Given the description of an element on the screen output the (x, y) to click on. 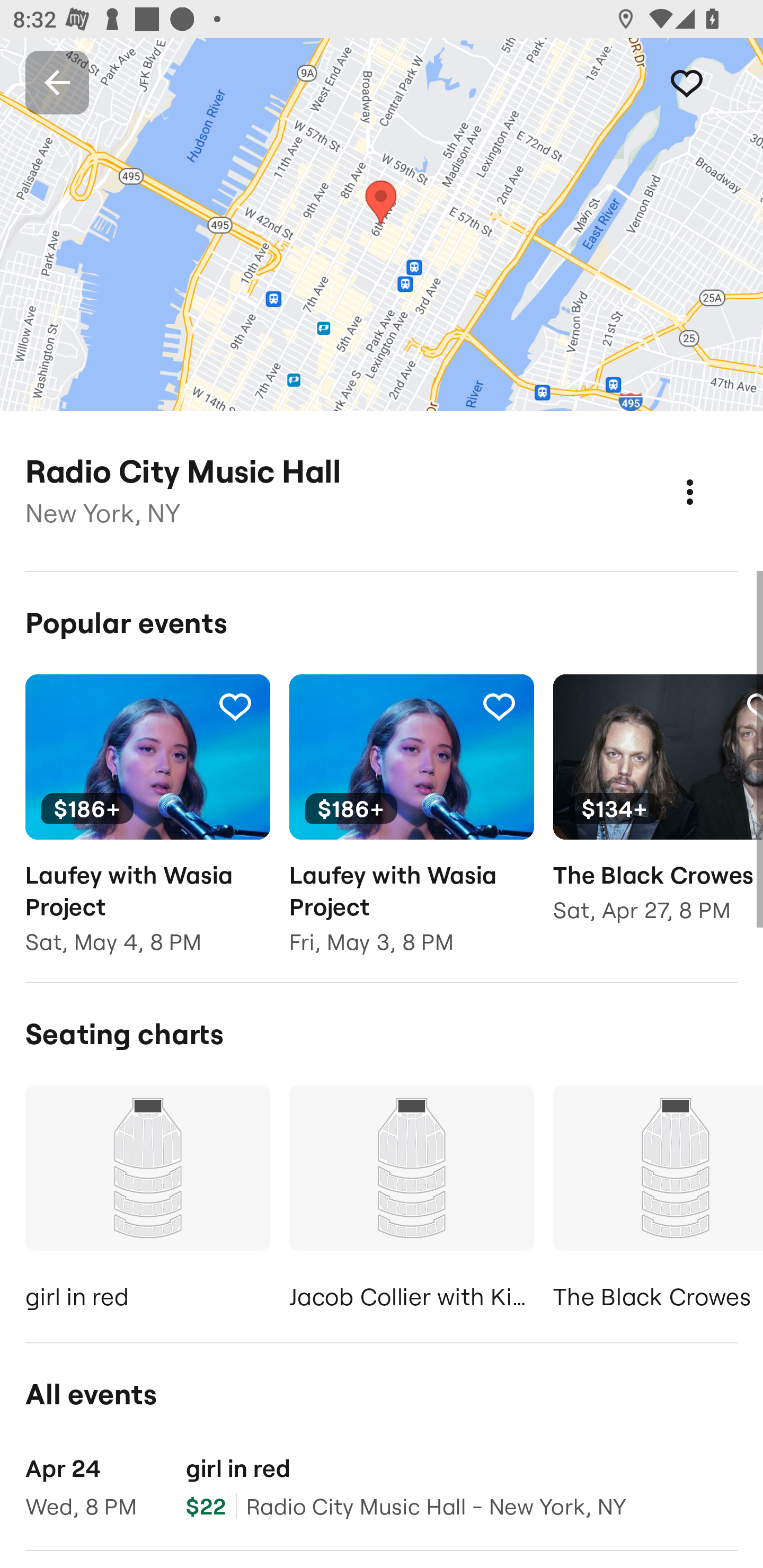
Back (57, 81)
Tracking (705, 81)
See more options (708, 472)
Tracking $134+ The Black Crowes Sat, Apr 27, 8 PM (658, 811)
Tracking (234, 705)
Tracking (498, 705)
girl in red (147, 1201)
Jacob Collier with Kimbra (411, 1201)
The Black Crowes (658, 1201)
